Given the description of an element on the screen output the (x, y) to click on. 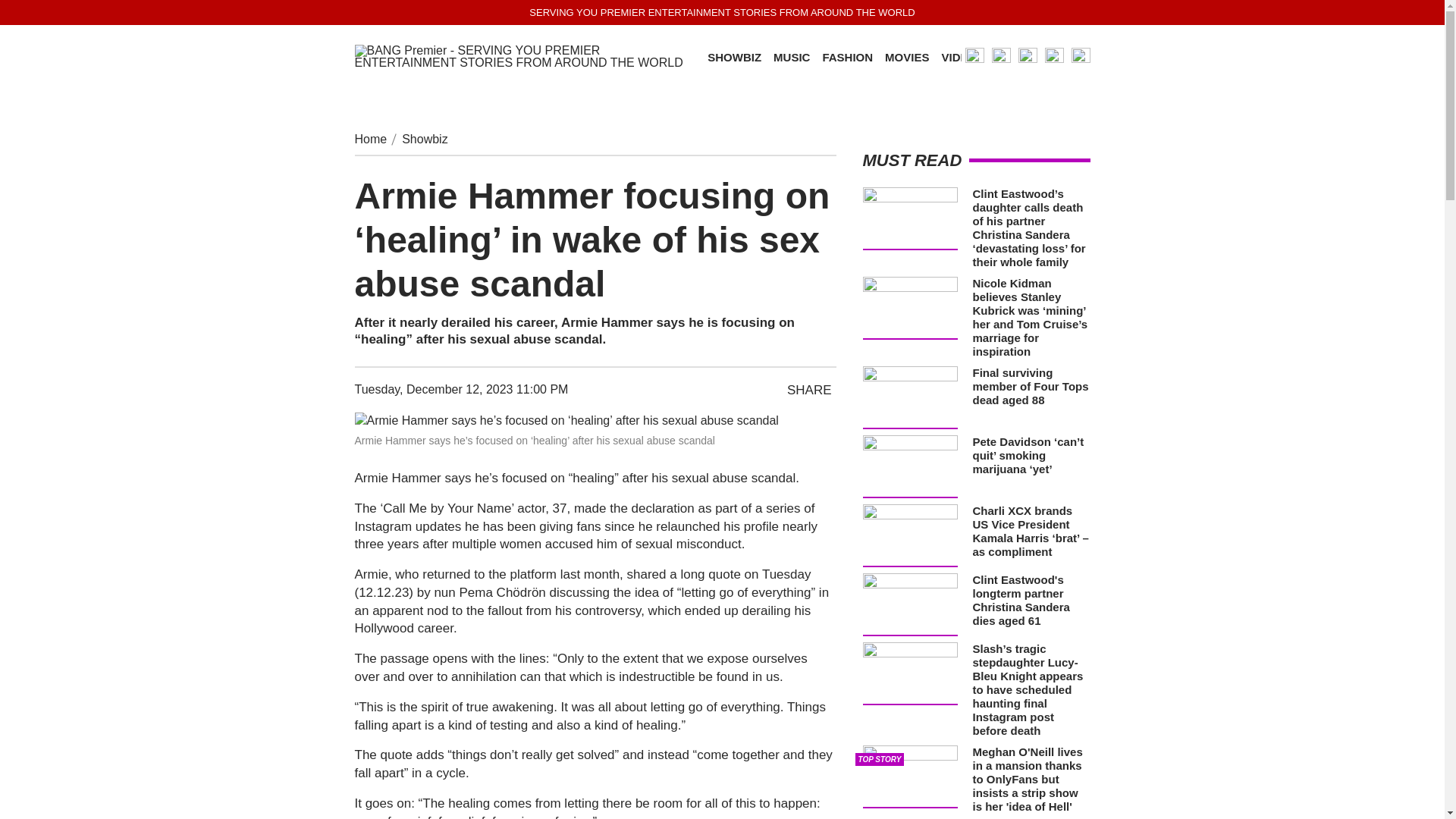
Home (371, 138)
BANG Premier on Twitter (1000, 56)
MOVIES (906, 57)
BANG Premier on Facebook (1079, 56)
MUSIC (791, 57)
Final surviving member of Four Tops dead aged 88 (1029, 386)
FASHION (847, 57)
BANG Premier on TikTok (1054, 56)
VIDEO (958, 57)
SHOWBIZ (734, 57)
Showbiz (423, 138)
BANG Premier on YouTube (1026, 56)
BANG Premier on Instagram (973, 56)
